Given the description of an element on the screen output the (x, y) to click on. 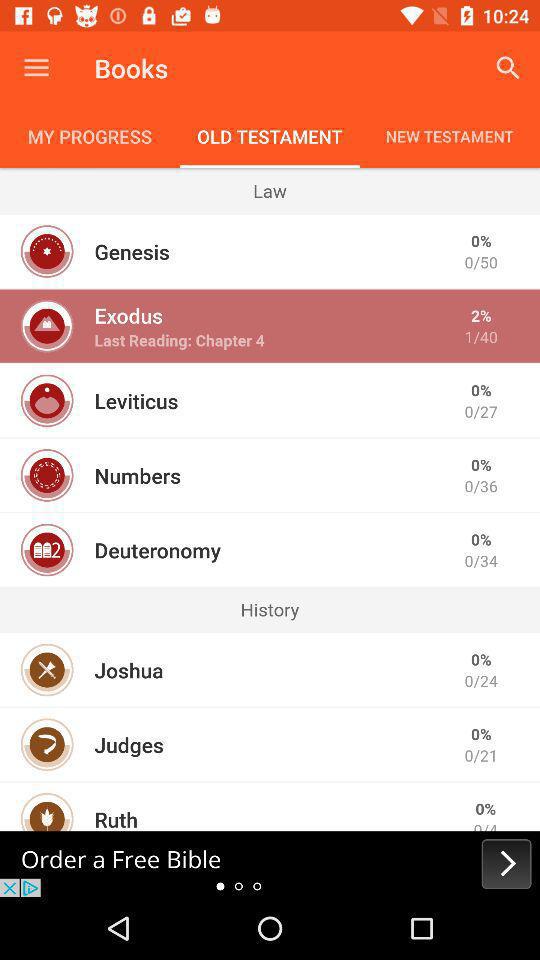
advertisement (270, 864)
